Given the description of an element on the screen output the (x, y) to click on. 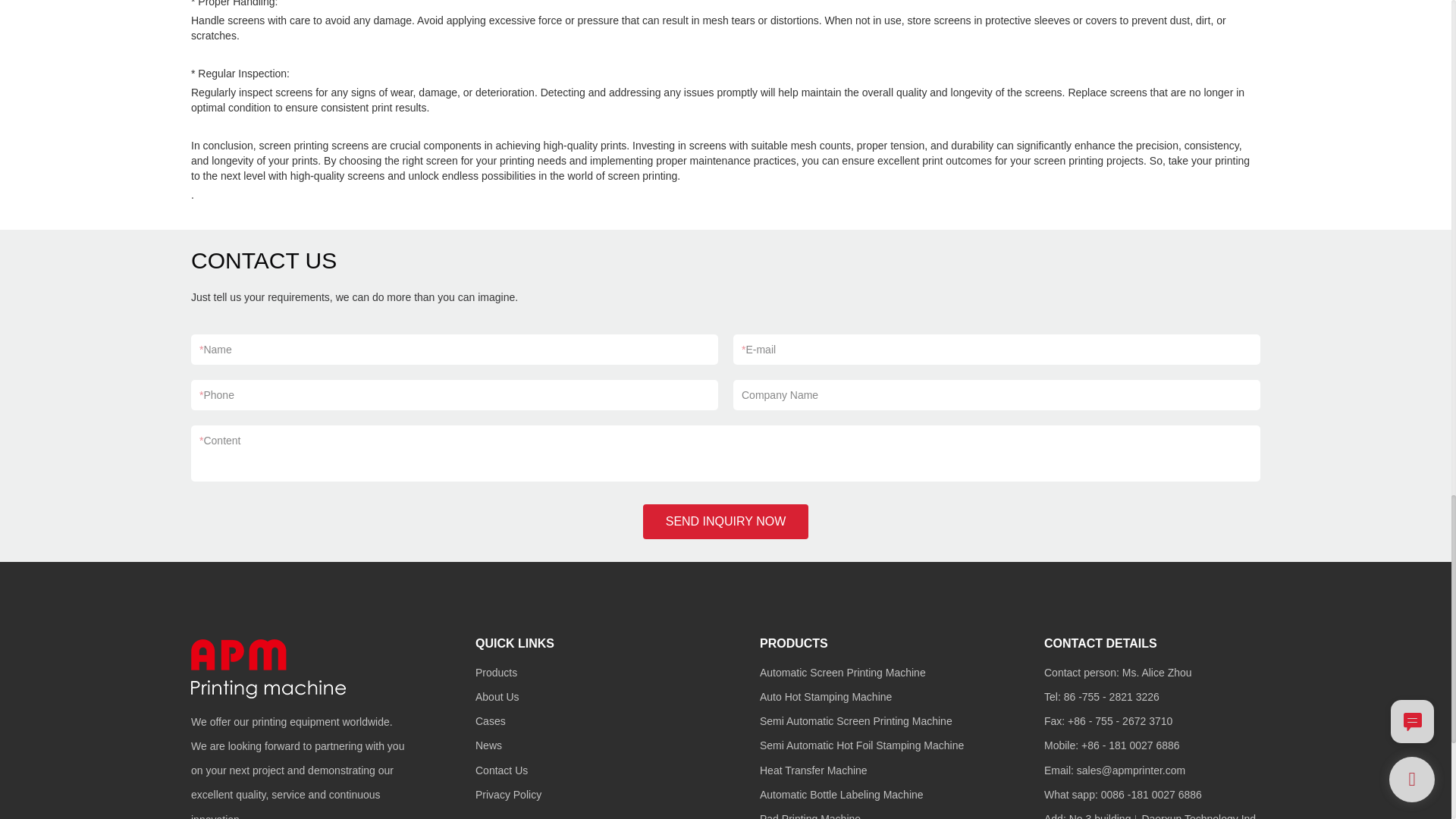
SEND INQUIRY NOW (726, 521)
Contact Us (501, 770)
Products (496, 672)
Cases (490, 720)
Auto Hot Stamping Machine (825, 696)
News (489, 745)
Automatic Screen Printing Machine (843, 672)
Privacy Policy (508, 794)
About Us (497, 696)
